Given the description of an element on the screen output the (x, y) to click on. 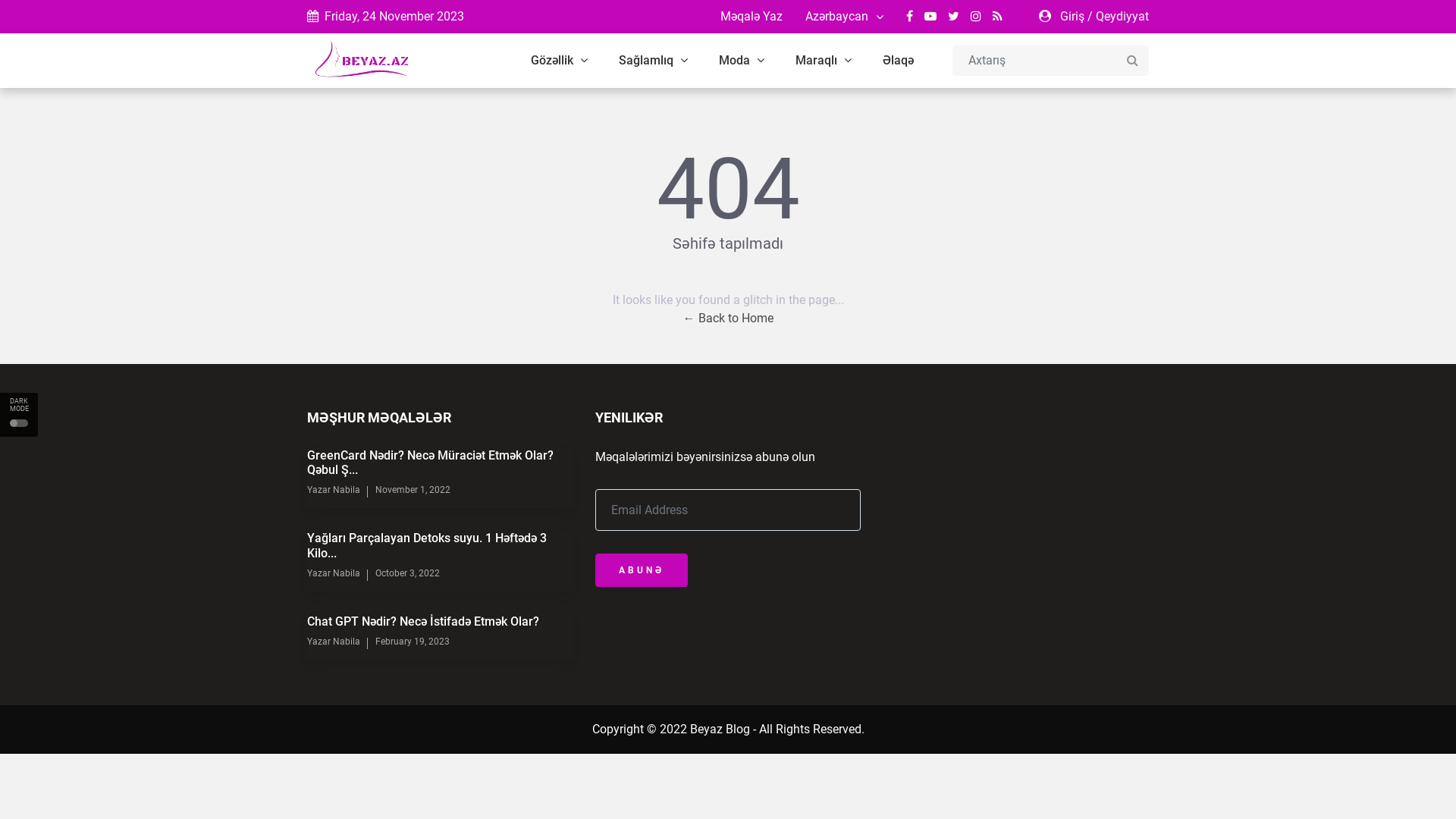
February 19, 2023 Element type: text (412, 641)
November 1, 2022 Element type: text (412, 489)
Qeydiyyat Element type: text (1121, 16)
Nabila Element type: text (345, 489)
Nabila Element type: text (345, 641)
October 3, 2022 Element type: text (407, 572)
Nabila Element type: text (345, 572)
Moda Element type: text (741, 60)
